Given the description of an element on the screen output the (x, y) to click on. 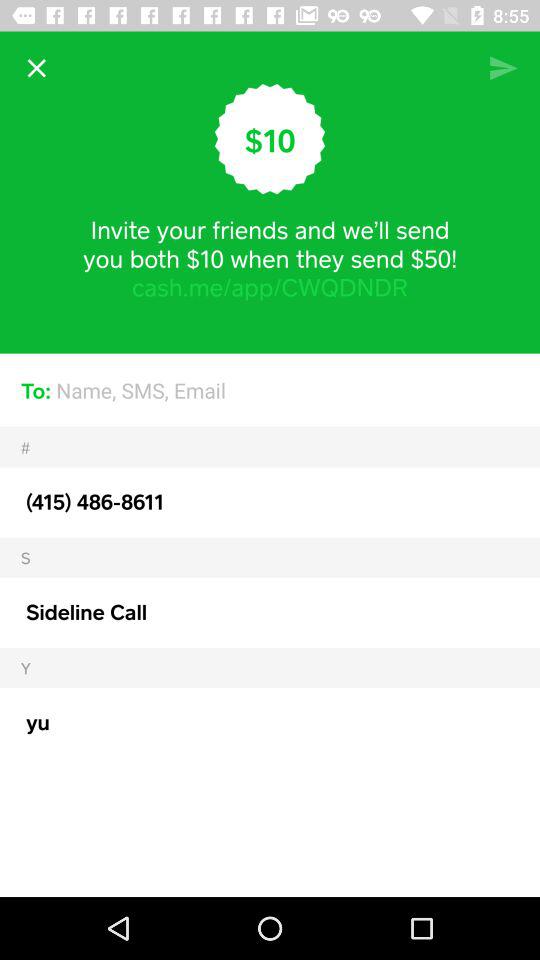
select the 10 (269, 138)
select the link below the white color text on the top (269, 286)
